Given the description of an element on the screen output the (x, y) to click on. 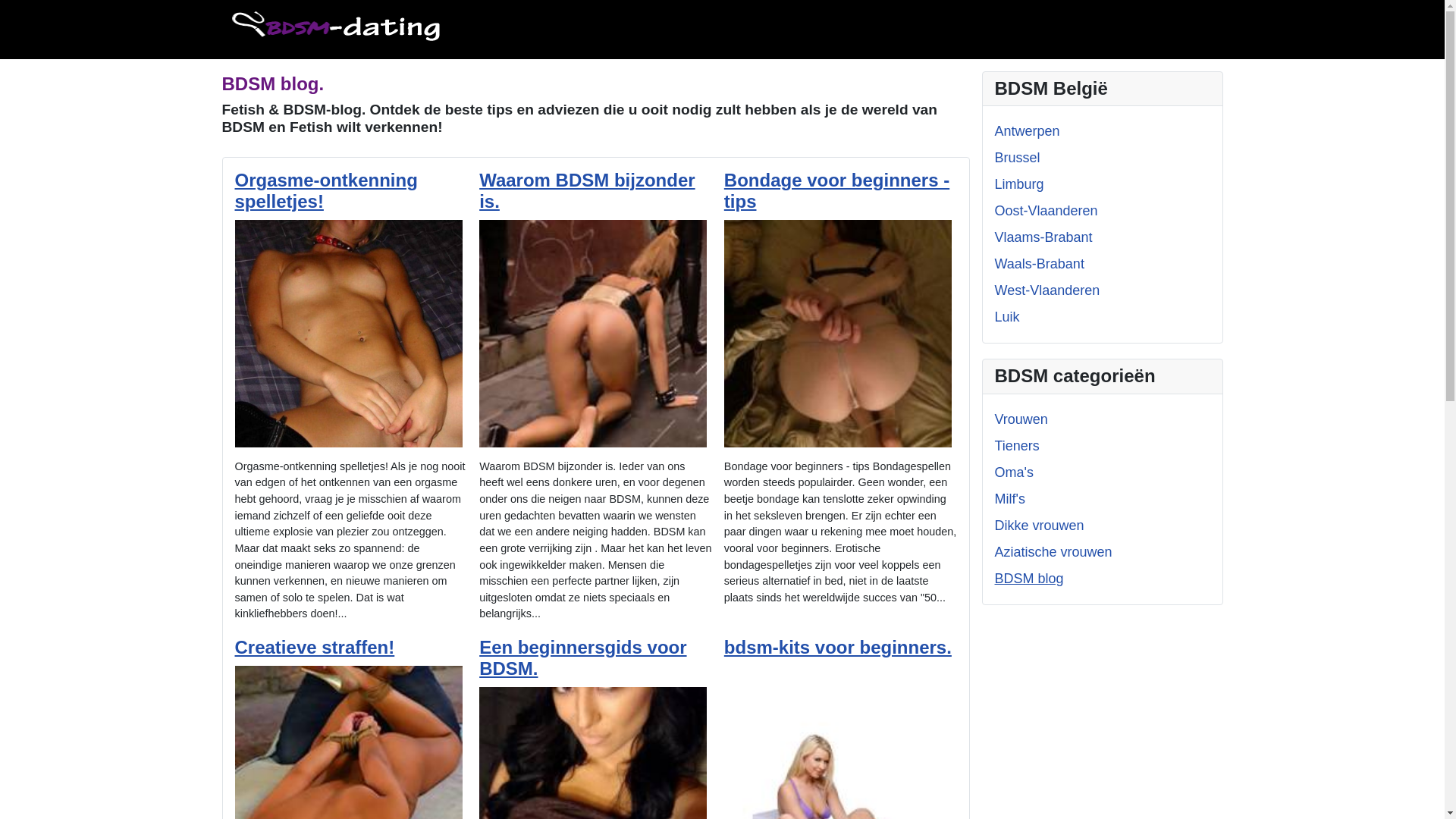
Oma's Element type: text (1013, 472)
Vrouwen Element type: text (1021, 418)
Waarom BDSM bijzonder is. Element type: text (586, 190)
Luik Element type: text (1006, 316)
Creatieve straffen! Element type: text (315, 647)
bdsm-kits voor beginners. Element type: text (837, 647)
BDSM blog Element type: text (1028, 578)
Waals-Brabant Element type: text (1039, 263)
Oost-Vlaanderen Element type: text (1046, 210)
Orgasme-ontkenning spelletjes! Element type: text (326, 190)
Aziatische vrouwen Element type: text (1053, 551)
Dikke vrouwen Element type: text (1039, 525)
West-Vlaanderen Element type: text (1047, 290)
Milf's Element type: text (1009, 498)
Tieners Element type: text (1016, 445)
Antwerpen Element type: text (1027, 130)
Limburg Element type: text (1019, 183)
Vlaams-Brabant Element type: text (1043, 236)
Een beginnersgids voor BDSM. Element type: text (582, 657)
Brussel Element type: text (1017, 157)
Bondage voor beginners - tips Element type: text (836, 190)
